Given the description of an element on the screen output the (x, y) to click on. 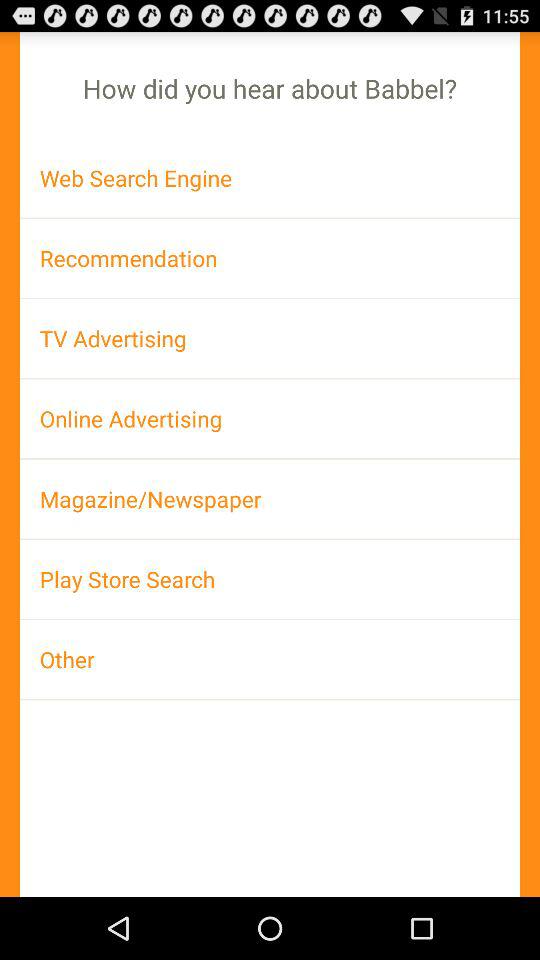
select app below recommendation item (269, 338)
